Given the description of an element on the screen output the (x, y) to click on. 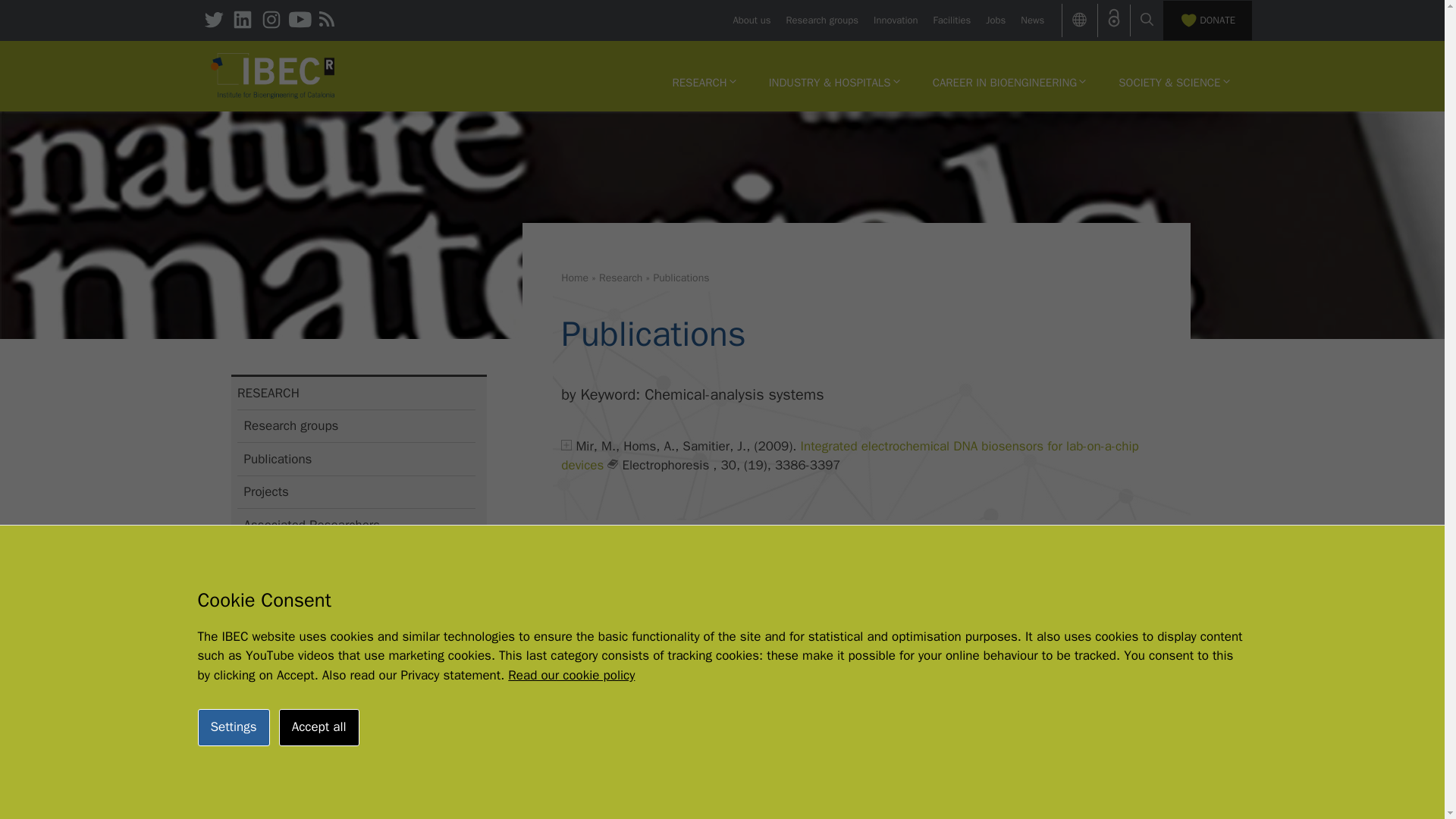
Facilities (952, 19)
Jobs (995, 19)
RESEARCH (704, 81)
Institute for Bioengineering of Catalonia (272, 75)
News (1031, 19)
Research groups (822, 19)
About us (751, 19)
DONATE (1207, 20)
Institute for Bioengineering of Catalonia (272, 74)
Innovation (895, 19)
